Given the description of an element on the screen output the (x, y) to click on. 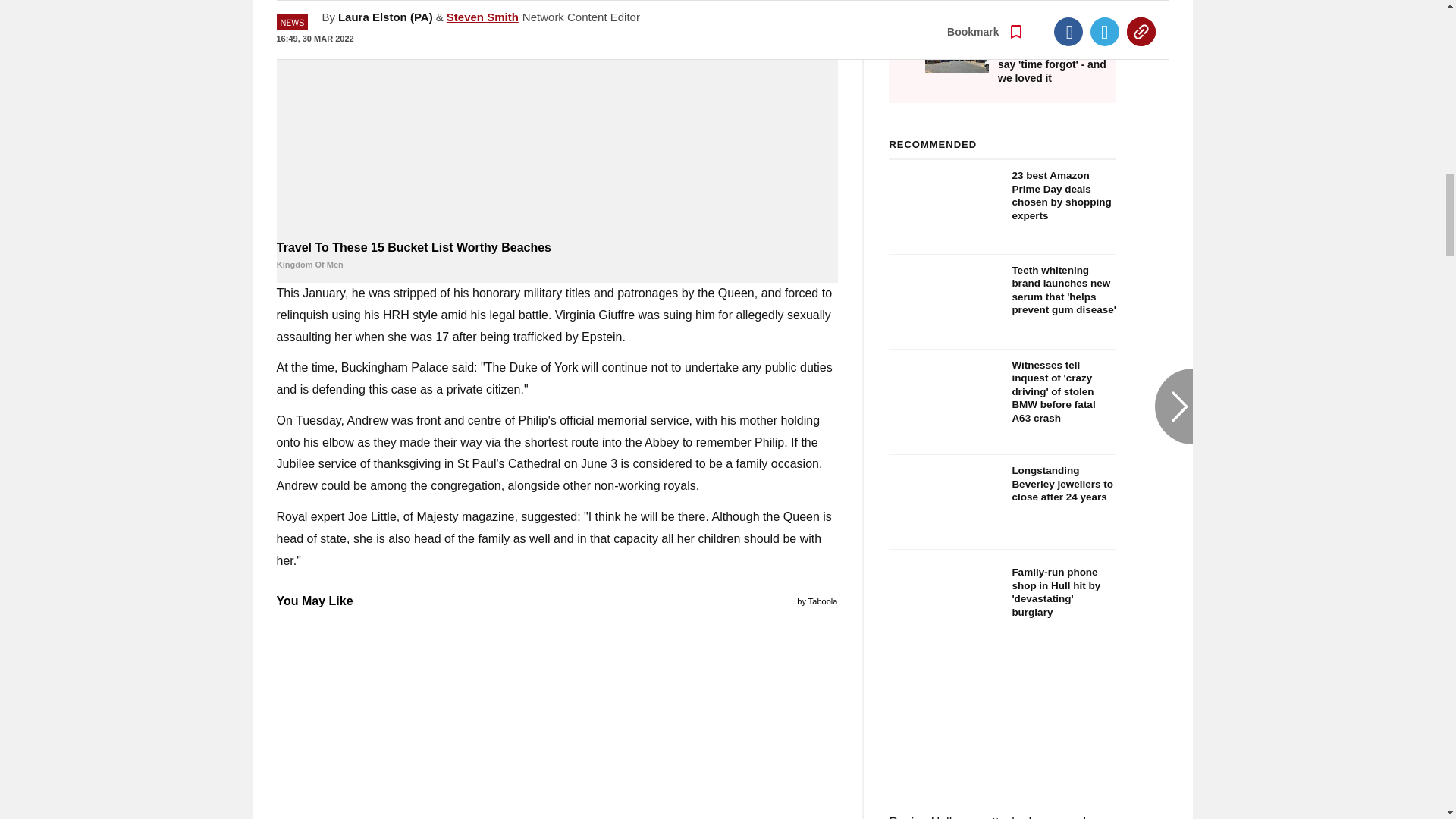
Travel To These 15 Bucket List Worthy Beaches (557, 255)
Smirking thug kicked female court officer between the legs (557, 716)
Travel To These 15 Bucket List Worthy Beaches (557, 117)
